Given the description of an element on the screen output the (x, y) to click on. 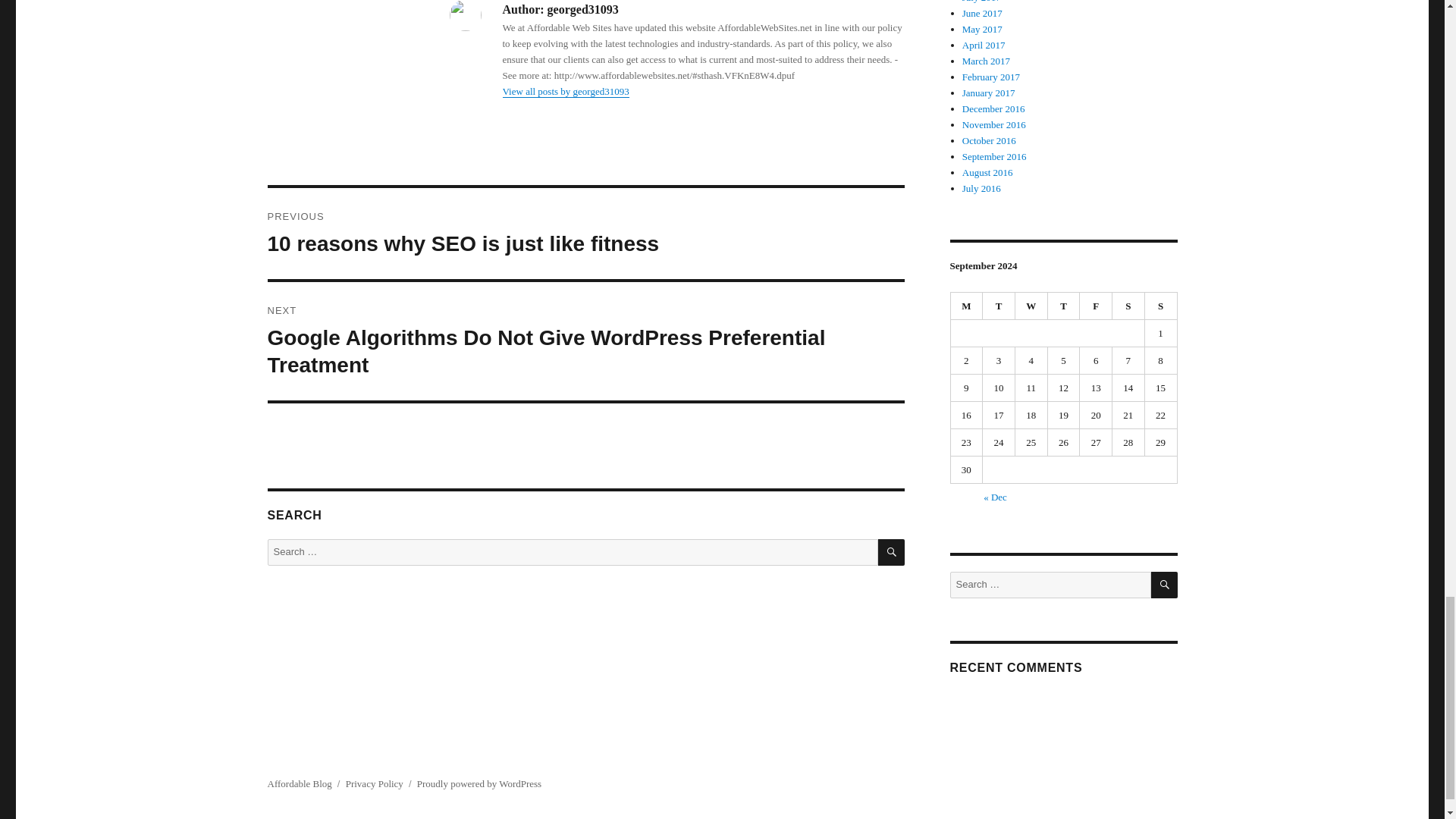
SEARCH (890, 551)
Monday (967, 306)
Sunday (1160, 306)
Wednesday (1031, 306)
Saturday (1128, 306)
Thursday (1064, 306)
Tuesday (998, 306)
Friday (1096, 306)
